Given the description of an element on the screen output the (x, y) to click on. 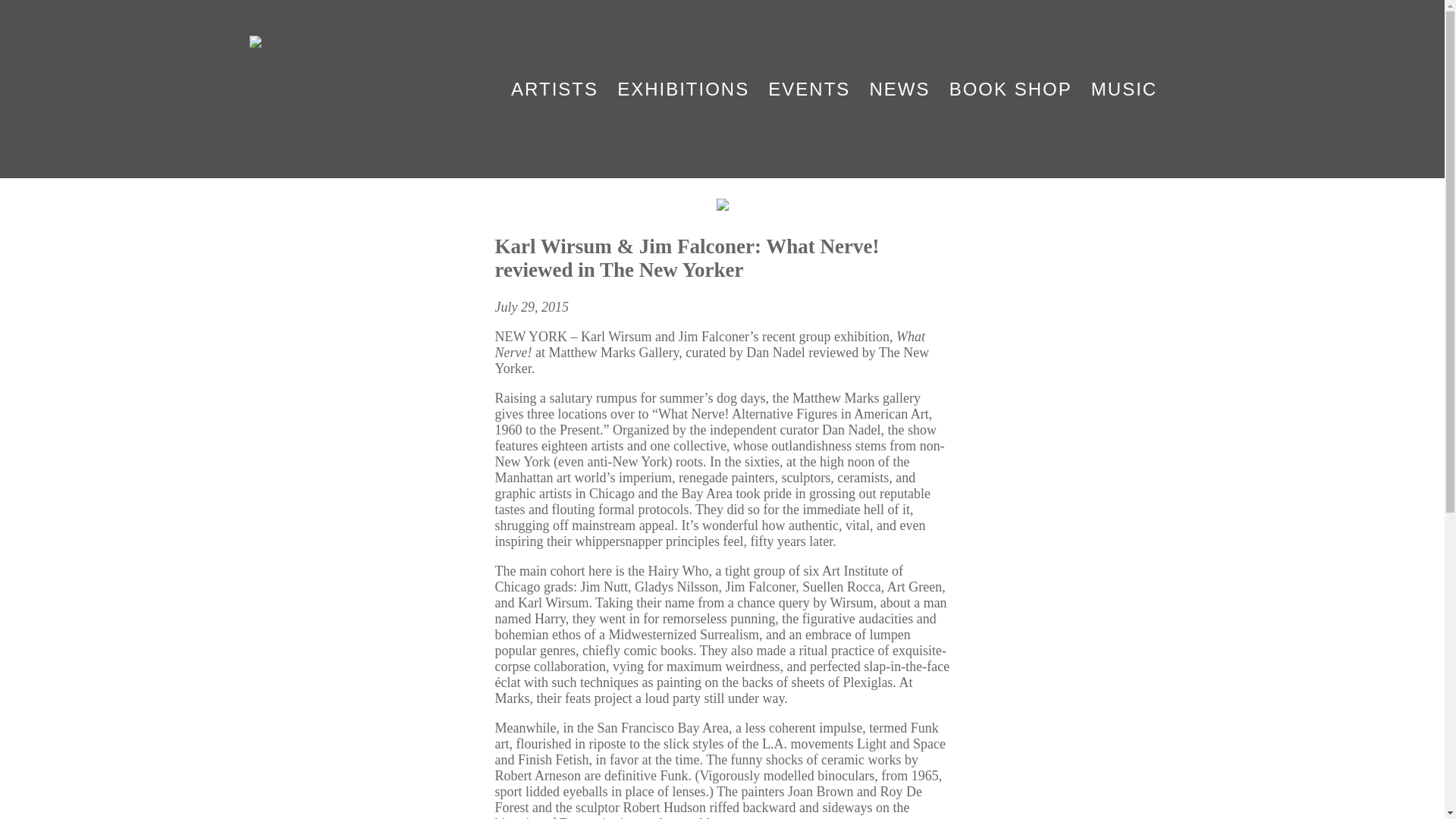
BOOK SHOP (1010, 89)
ARTISTS (554, 89)
MUSIC (1123, 89)
NEWS (899, 89)
EXHIBITIONS (683, 89)
EVENTS (809, 89)
